Given the description of an element on the screen output the (x, y) to click on. 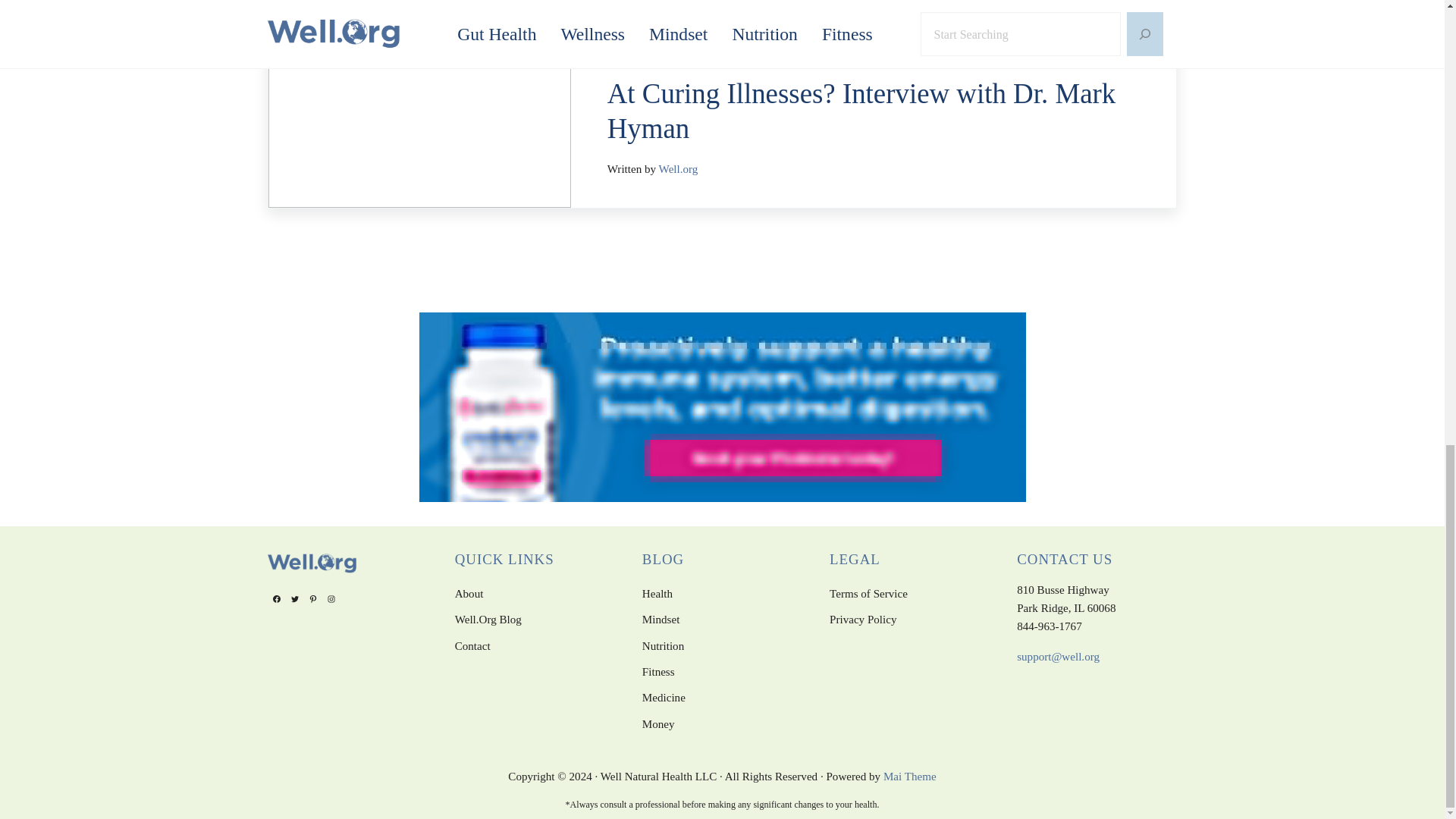
Privacy Policy (862, 619)
Contact (472, 646)
Well.Org Blog (487, 619)
About (468, 593)
Terms of Service (868, 593)
Mindset (660, 619)
Money (658, 724)
Health (657, 593)
Nutrition (663, 646)
